Given the description of an element on the screen output the (x, y) to click on. 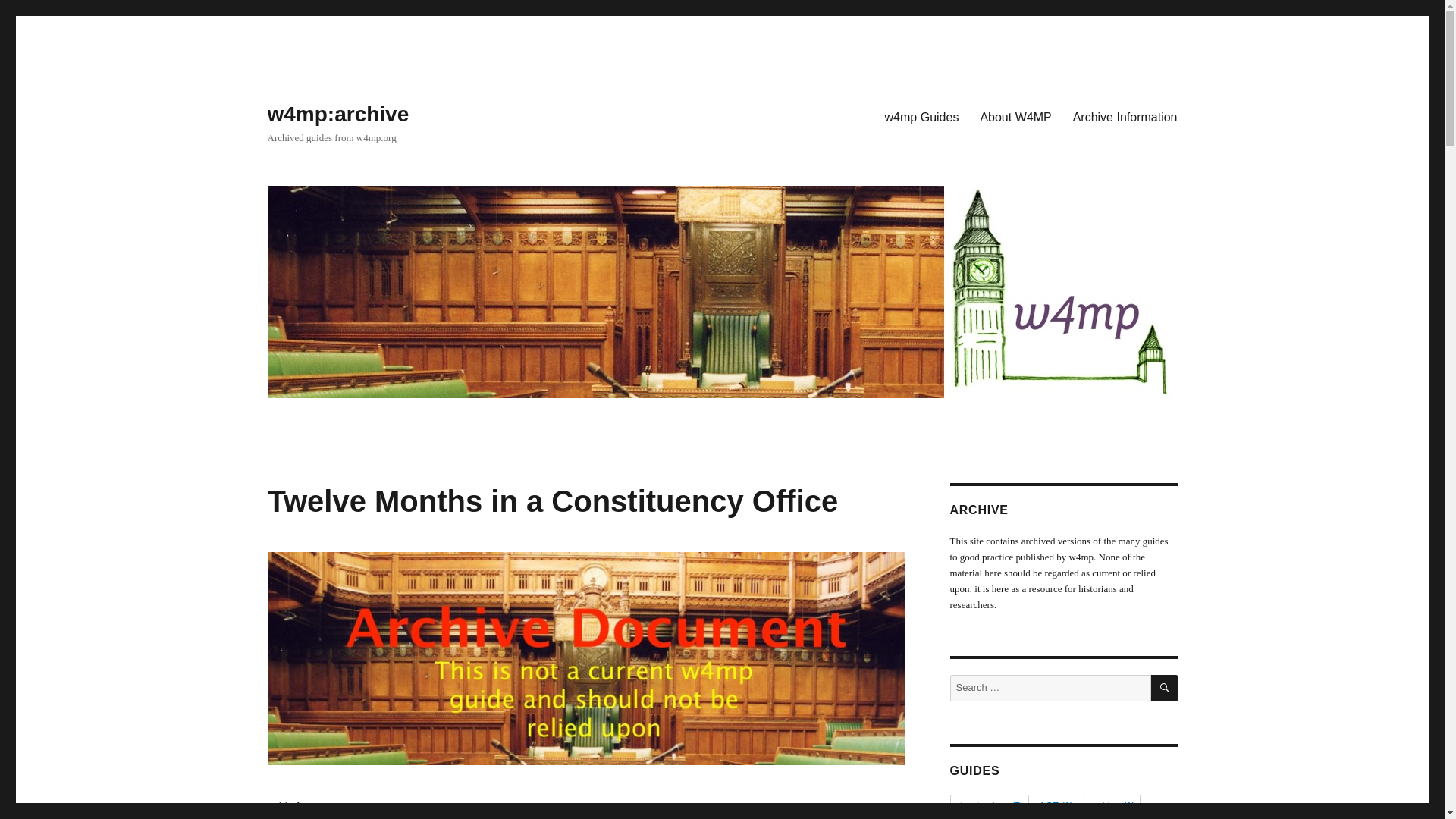
About W4MP (1015, 116)
w4mp Guides (922, 116)
Archive Information (1125, 116)
w4mp:archive (337, 114)
SEARCH (1164, 687)
